Given the description of an element on the screen output the (x, y) to click on. 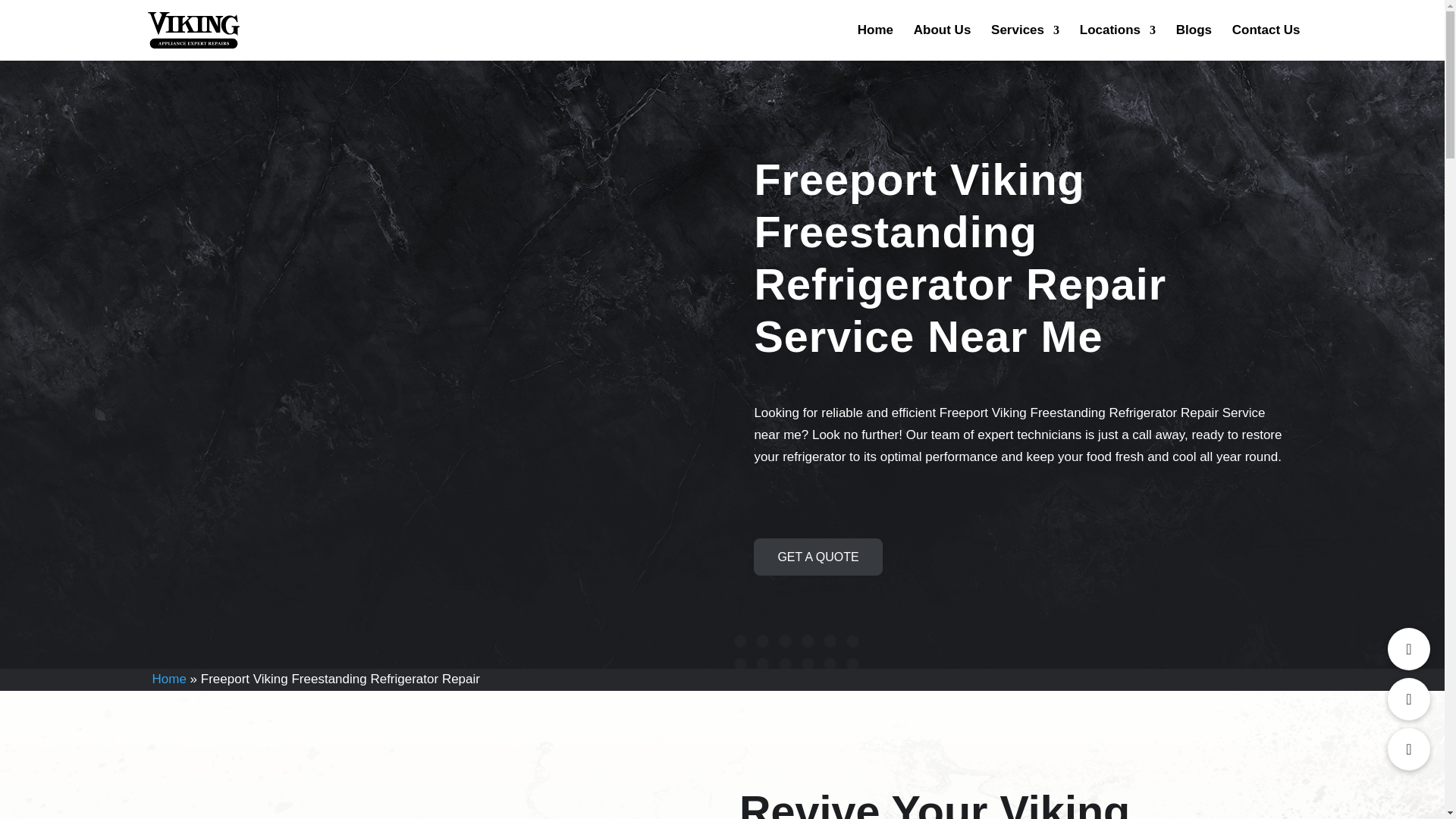
Home (875, 42)
Contact Us (1265, 42)
Blogs (1193, 42)
Services (1025, 42)
Locations (1118, 42)
About Us (942, 42)
